Given the description of an element on the screen output the (x, y) to click on. 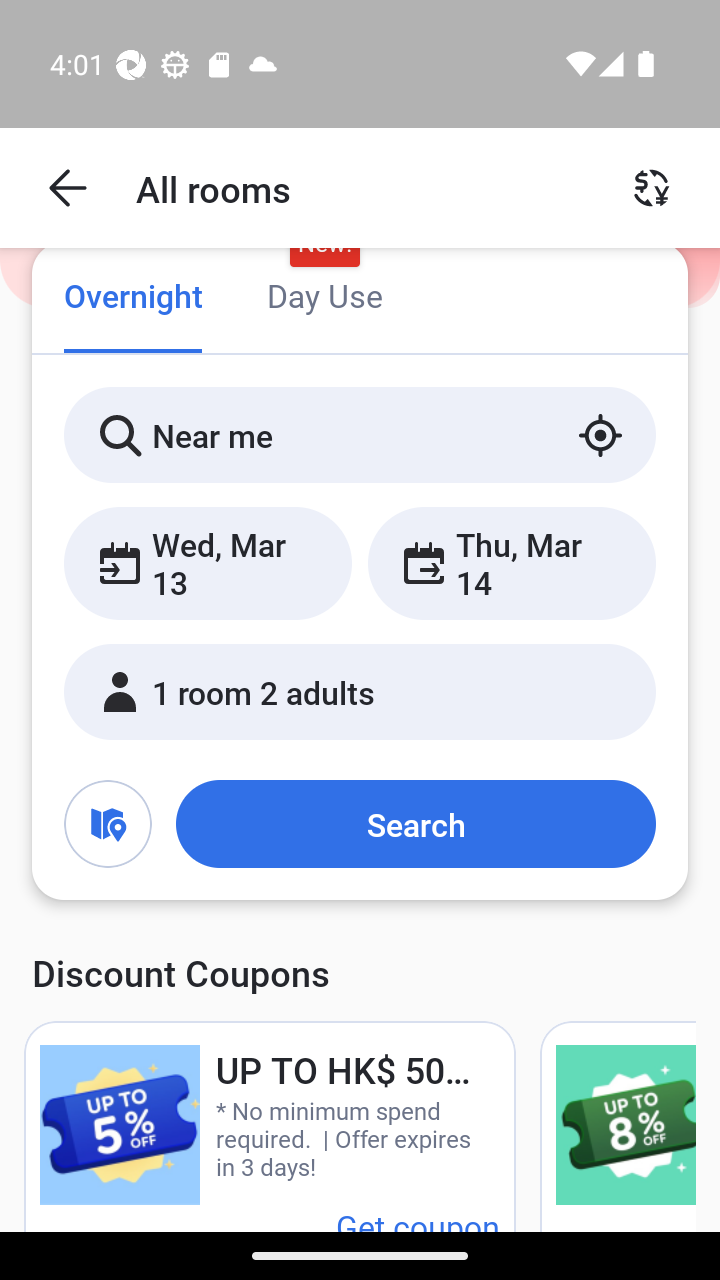
Day Use (324, 298)
Near me (359, 434)
Wed, Mar 13 (208, 562)
Thu, Mar 14 (511, 562)
1 room 2 adults (359, 691)
Search (415, 823)
